Given the description of an element on the screen output the (x, y) to click on. 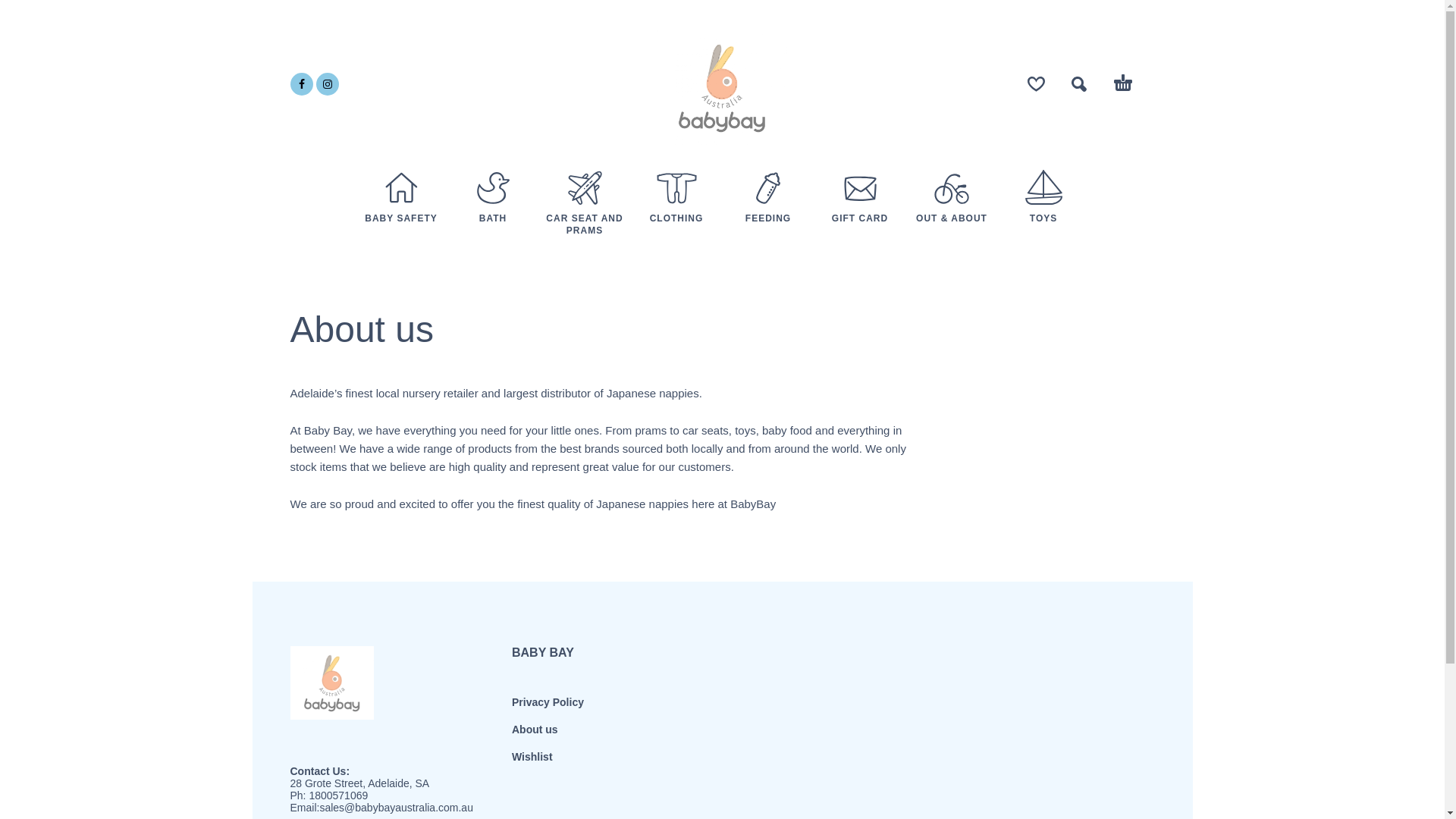
BATH (492, 216)
BABY SAFETY (401, 216)
CAR SEAT AND PRAMS (584, 222)
